Given the description of an element on the screen output the (x, y) to click on. 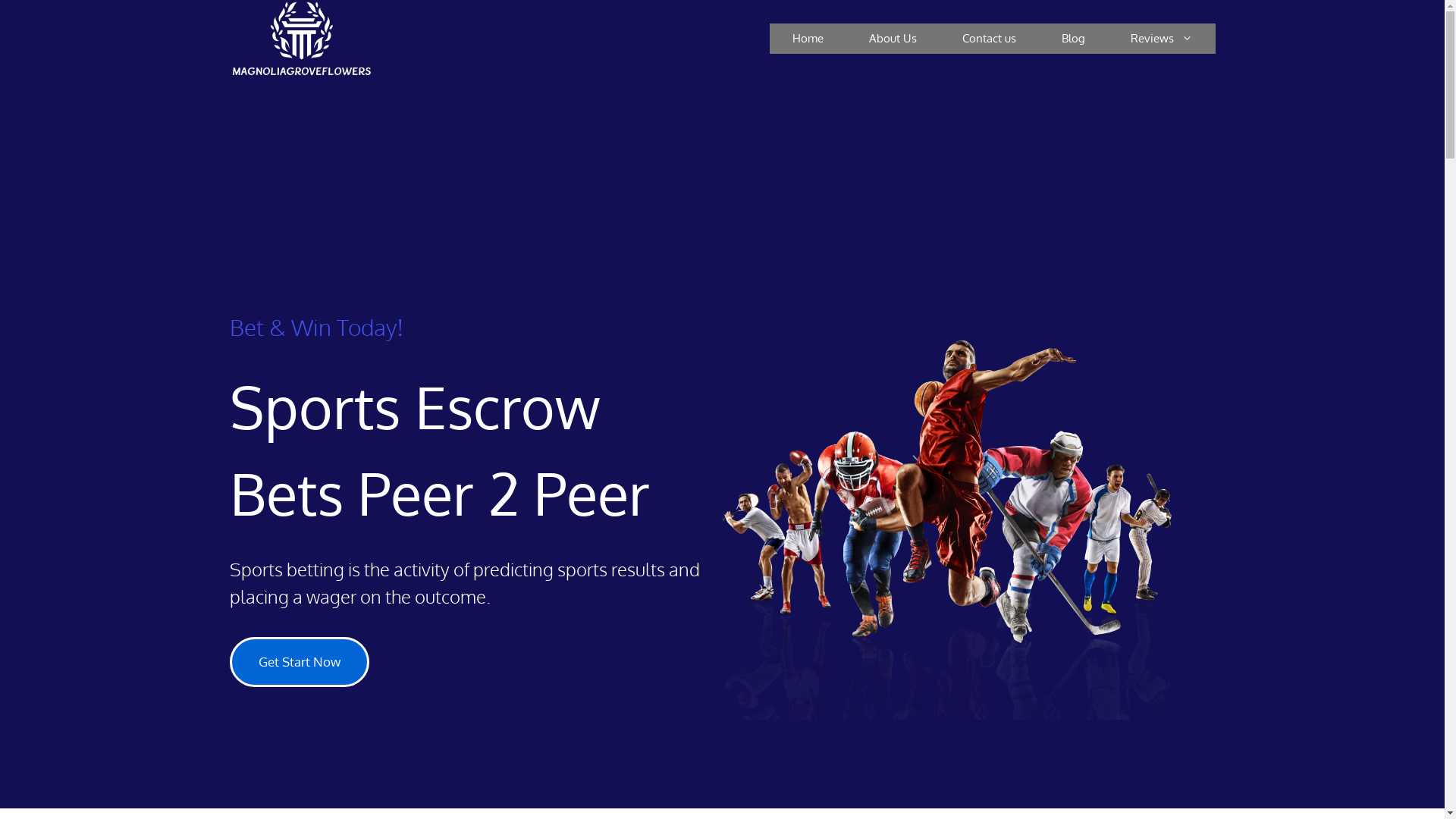
Contact us Element type: text (988, 38)
Home Element type: text (806, 38)
Reviews Element type: text (1160, 38)
About Us Element type: text (892, 38)
Blog Element type: text (1072, 38)
